Given the description of an element on the screen output the (x, y) to click on. 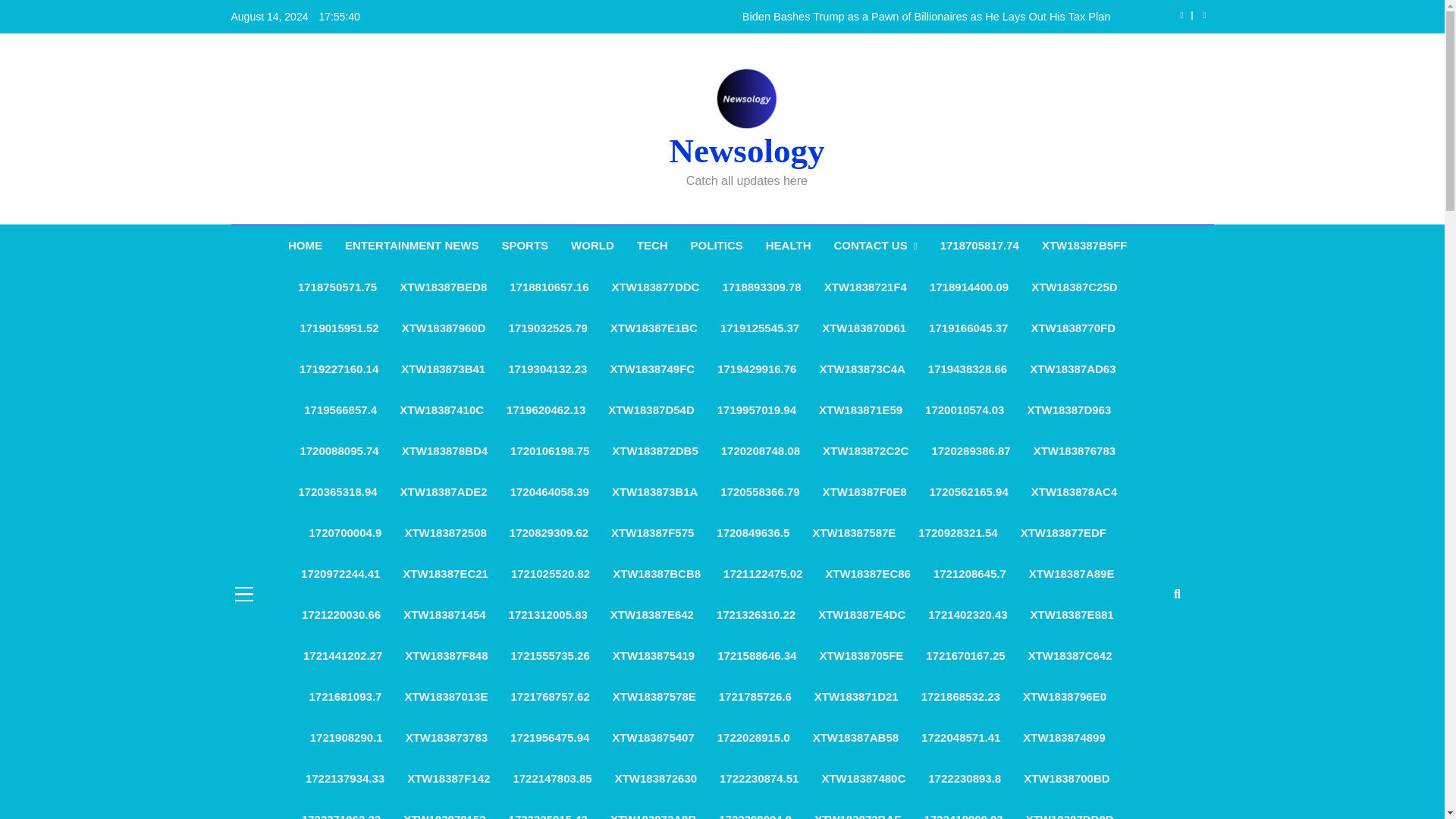
on (1206, 592)
Newsology (746, 150)
XTW18387BED8 (442, 286)
ENTERTAINMENT NEWS (411, 245)
1718893309.78 (761, 286)
CONTACT US (875, 245)
POLITICS (716, 245)
1718705817.74 (979, 245)
SPORTS (524, 245)
